Given the description of an element on the screen output the (x, y) to click on. 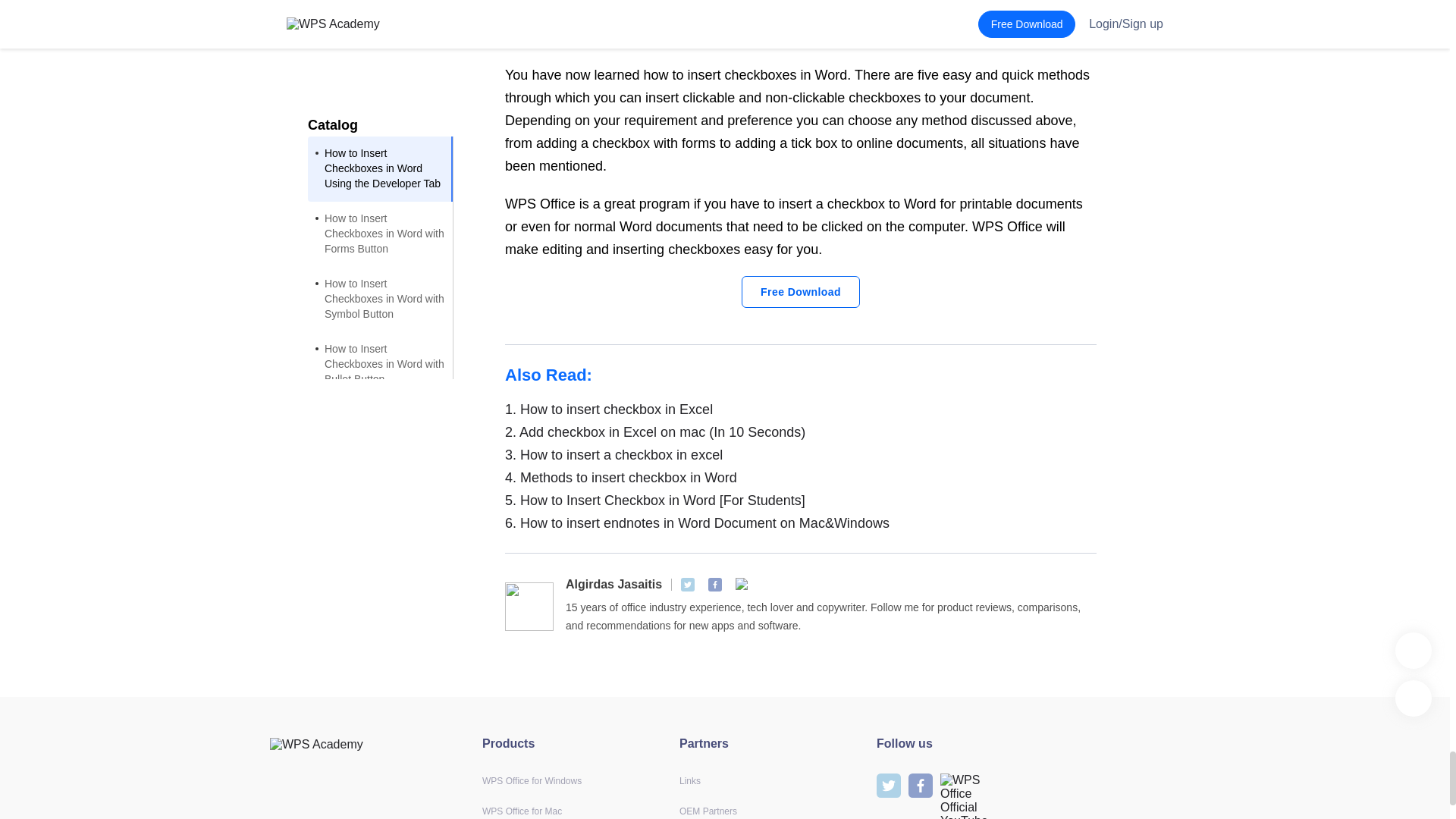
Free Download (800, 291)
How to insert a checkbox in excel (800, 454)
3. How to insert a checkbox in excel (800, 454)
4. Methods to insert checkbox in Word (800, 477)
WPS Office for Windows (530, 780)
Links (689, 780)
Methods to insert checkbox in Word (800, 477)
WPS Office Official Facebook (714, 584)
Algirdas Jasaitis (614, 584)
WPS Office for Mac (521, 810)
